Given the description of an element on the screen output the (x, y) to click on. 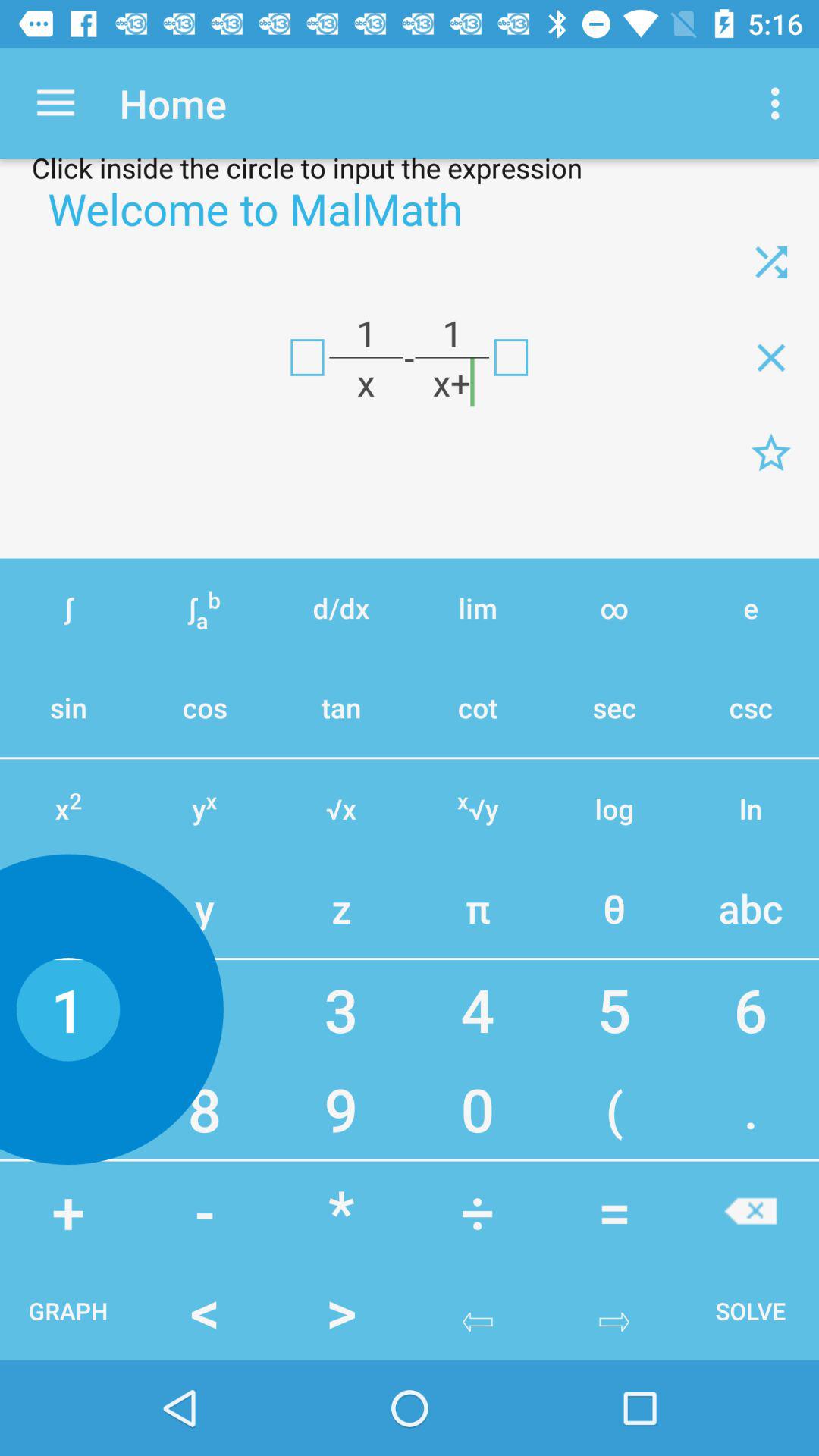
favorite the equation (771, 453)
